Given the description of an element on the screen output the (x, y) to click on. 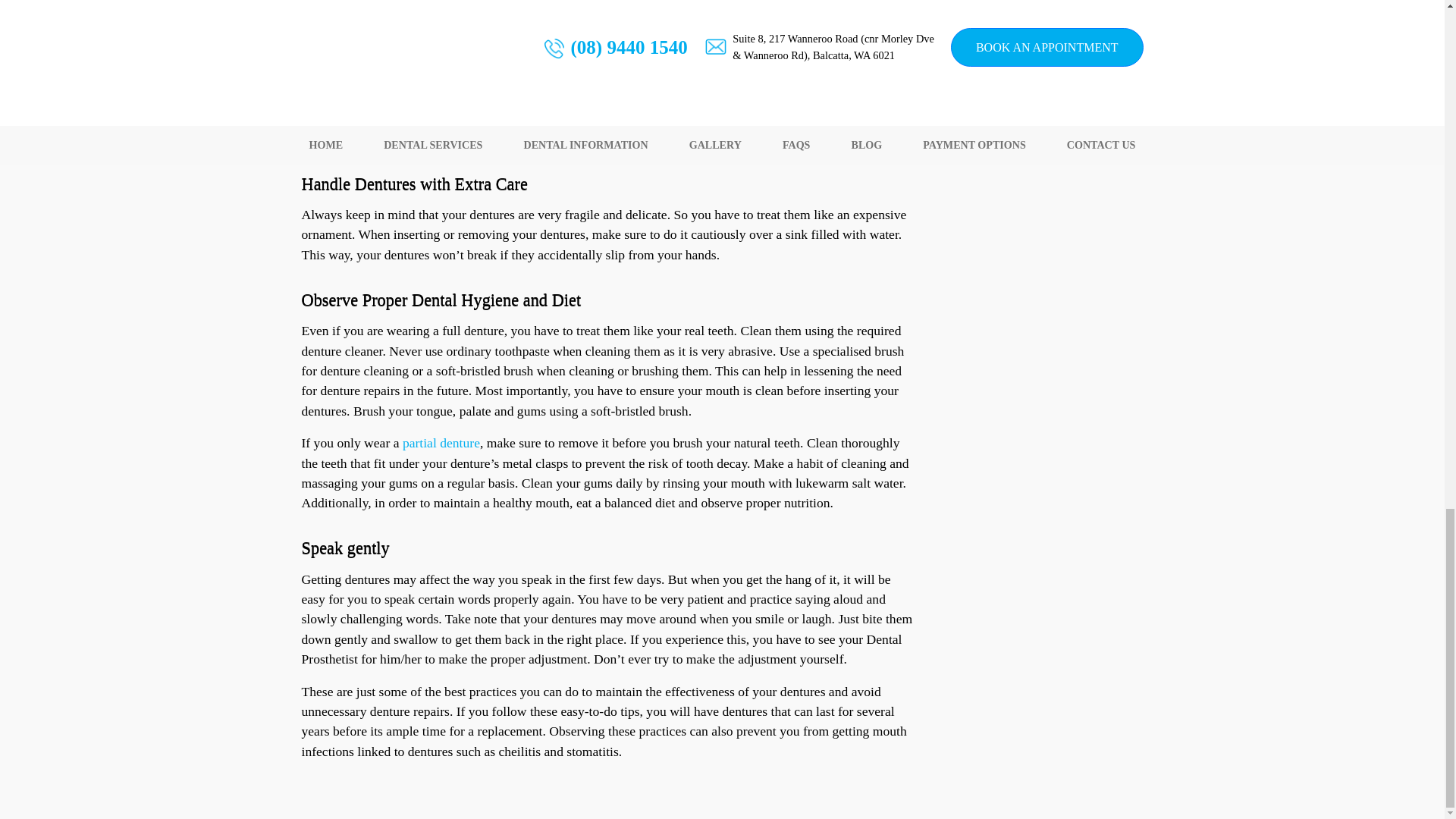
partial denture (441, 442)
